Given the description of an element on the screen output the (x, y) to click on. 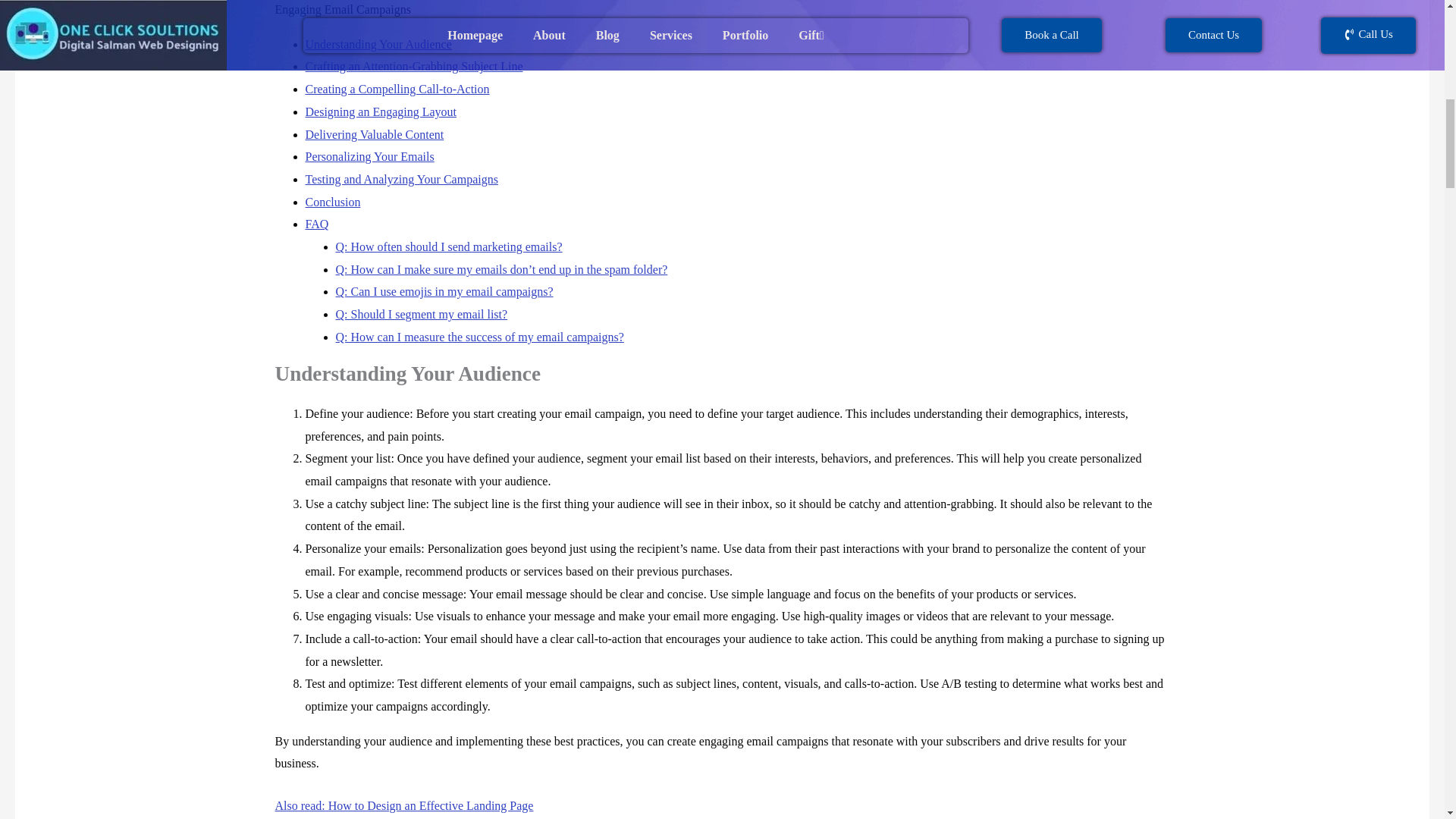
Designing an Engaging Layout (380, 111)
Understanding Your Audience (377, 43)
Crafting an Attention-Grabbing Subject Line (413, 65)
Creating a Compelling Call-to-Action (396, 88)
